Given the description of an element on the screen output the (x, y) to click on. 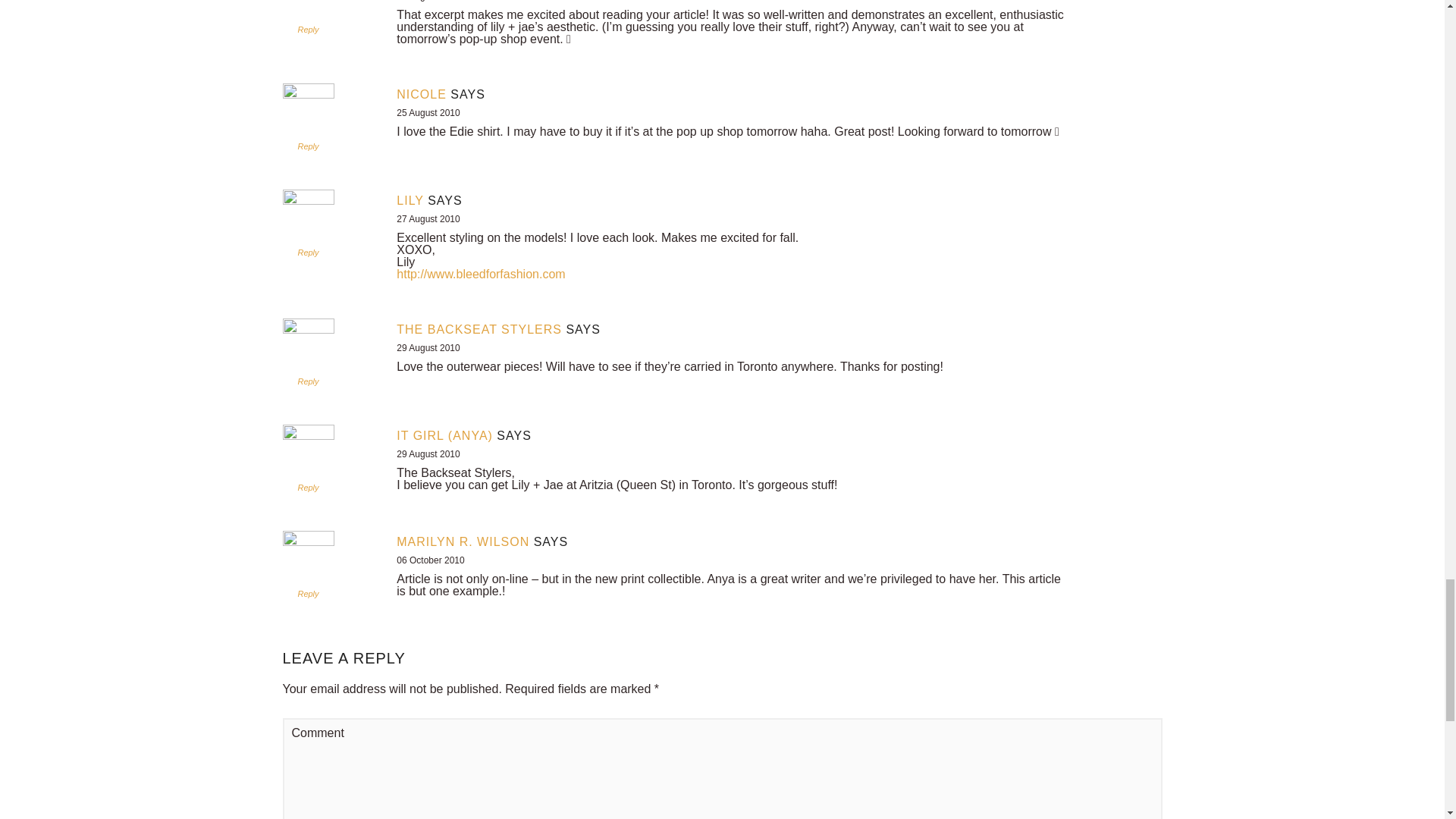
Reply (307, 593)
MARILYN R. WILSON (462, 541)
Reply (307, 145)
Reply (307, 487)
Reply (307, 380)
THE BACKSEAT STYLERS (479, 328)
NICOLE (421, 93)
LILY (409, 200)
Reply (307, 29)
Reply (307, 252)
